Given the description of an element on the screen output the (x, y) to click on. 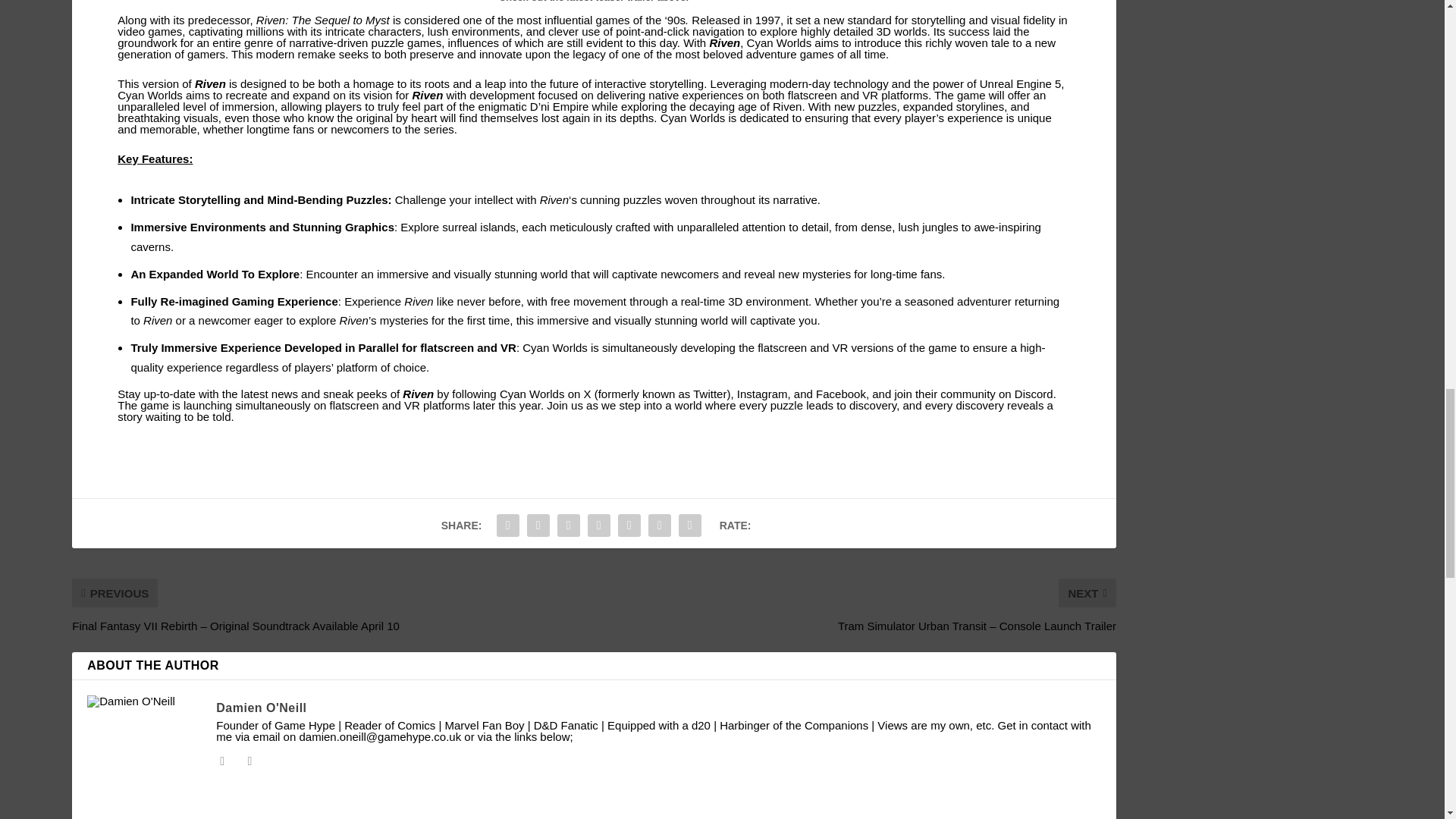
Facebook (840, 393)
Discord (1033, 393)
Instagram (761, 393)
